Given the description of an element on the screen output the (x, y) to click on. 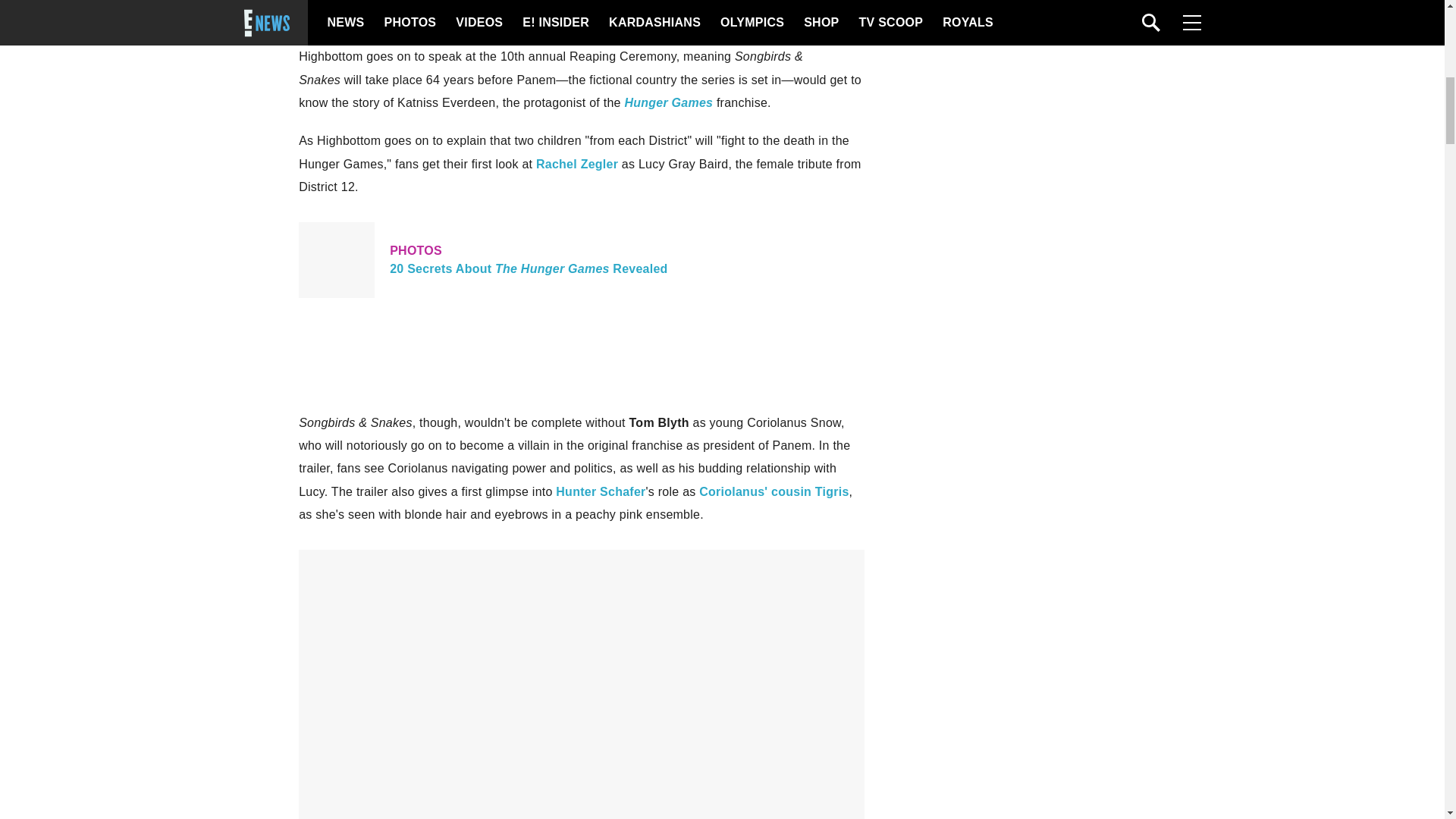
Viola Davis (331, 1)
Hunger Games (668, 102)
Hunter Schafer (581, 259)
Rachel Zegler (600, 491)
Peter Dinklage (576, 164)
Coriolanus' cousin Tigris (775, 18)
